Given the description of an element on the screen output the (x, y) to click on. 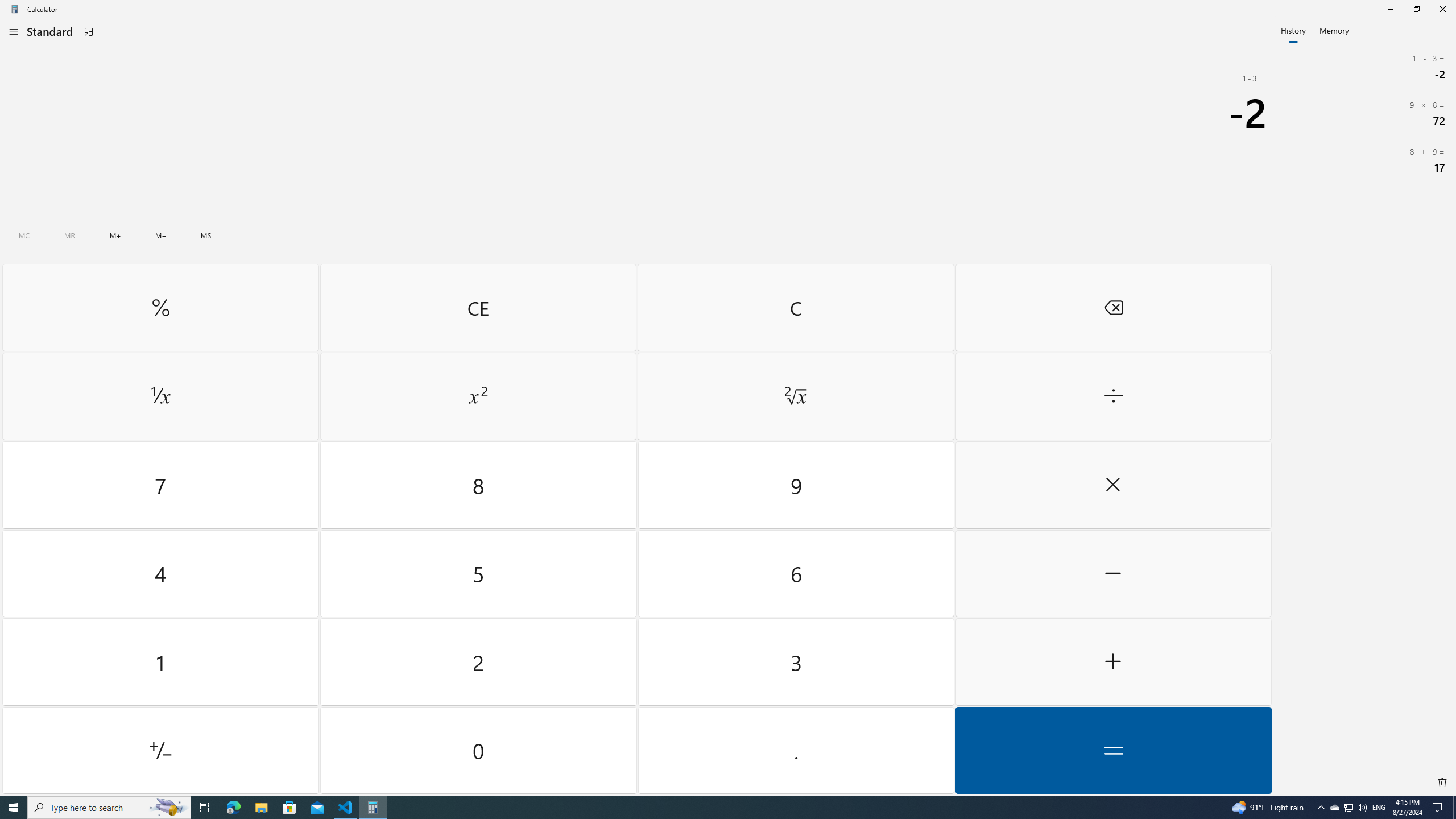
Equals (1113, 749)
Clear entry (478, 307)
Task View (204, 807)
Memory store (206, 235)
Q2790: 100% (1361, 807)
Zero (478, 749)
Memory add (115, 235)
Nine (795, 485)
Tray Input Indicator - English (United States) (1378, 807)
Close Calculator (1442, 9)
Calculator - 1 running window (373, 807)
Decimal separator (795, 749)
Six (795, 572)
